Given the description of an element on the screen output the (x, y) to click on. 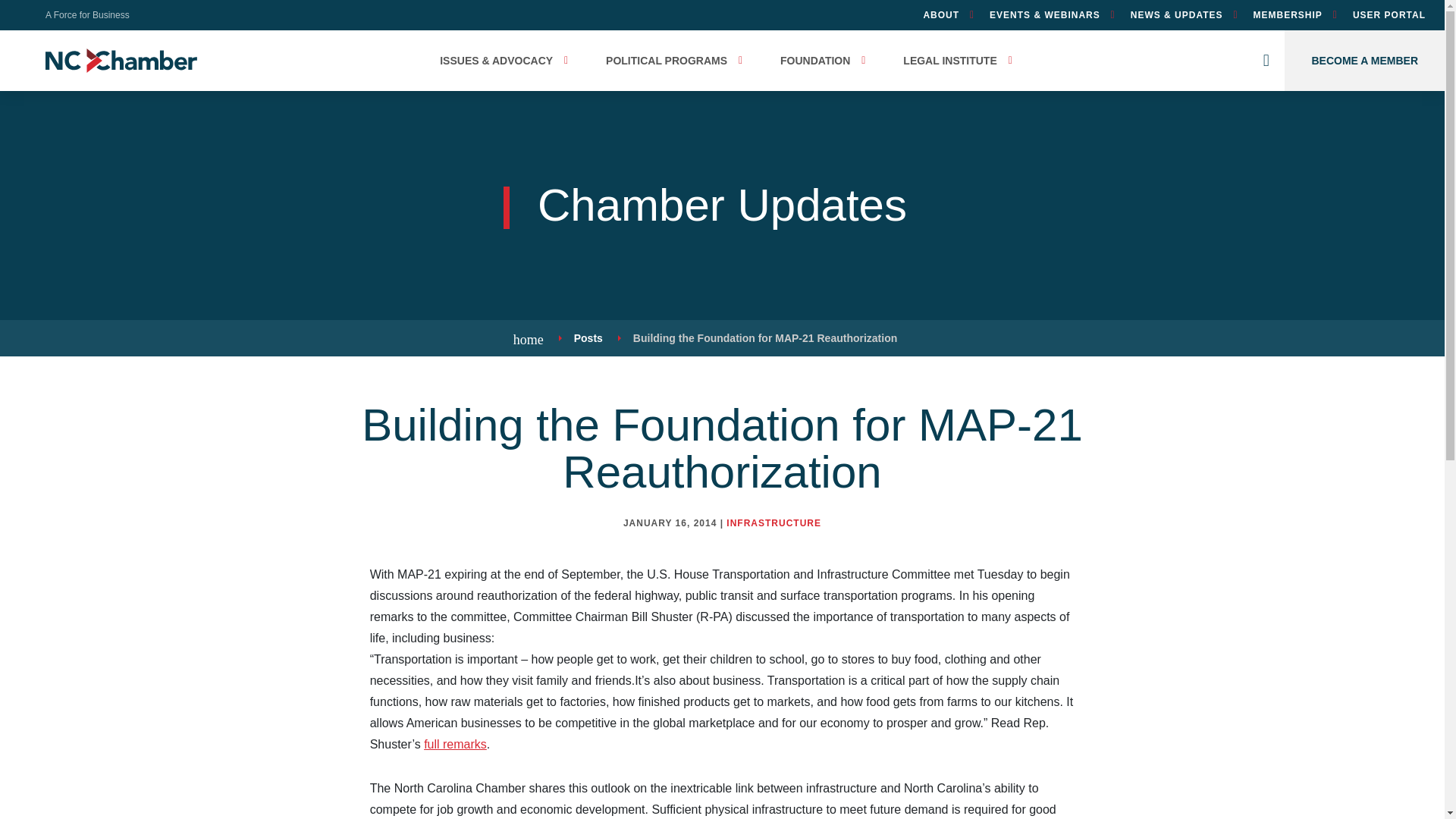
FOUNDATION (818, 60)
BECOME A MEMBER (1364, 60)
LEGAL INSTITUTE (953, 60)
POLITICAL PROGRAMS (670, 60)
